Given the description of an element on the screen output the (x, y) to click on. 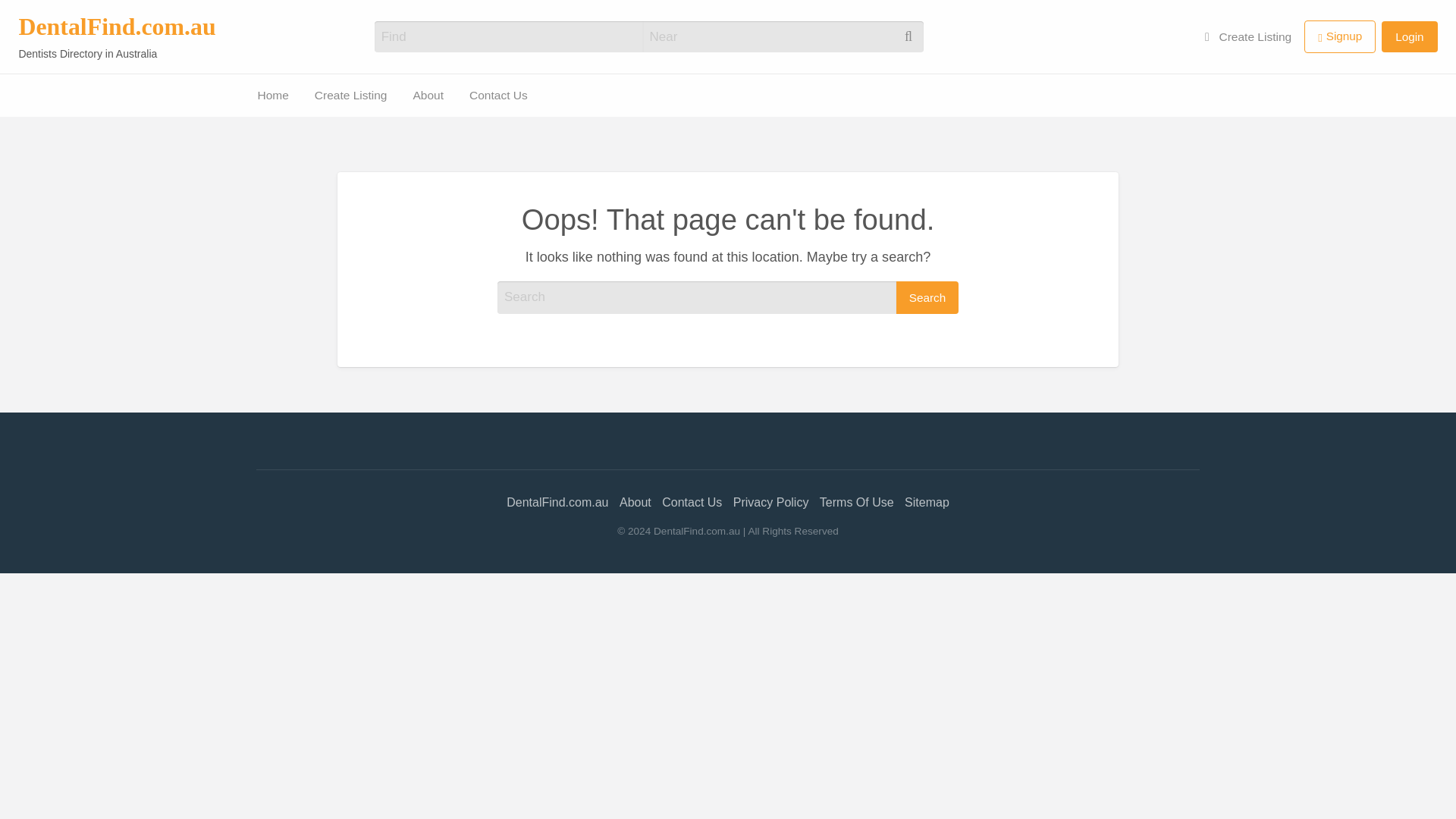
Search (30, 16)
Home (272, 94)
Search (30, 16)
Login (1409, 36)
Search (927, 297)
Terms Of Use (856, 502)
DentalFind.com.au (557, 502)
Contact Us (37, 116)
Sitemap (926, 502)
Search (927, 297)
